Given the description of an element on the screen output the (x, y) to click on. 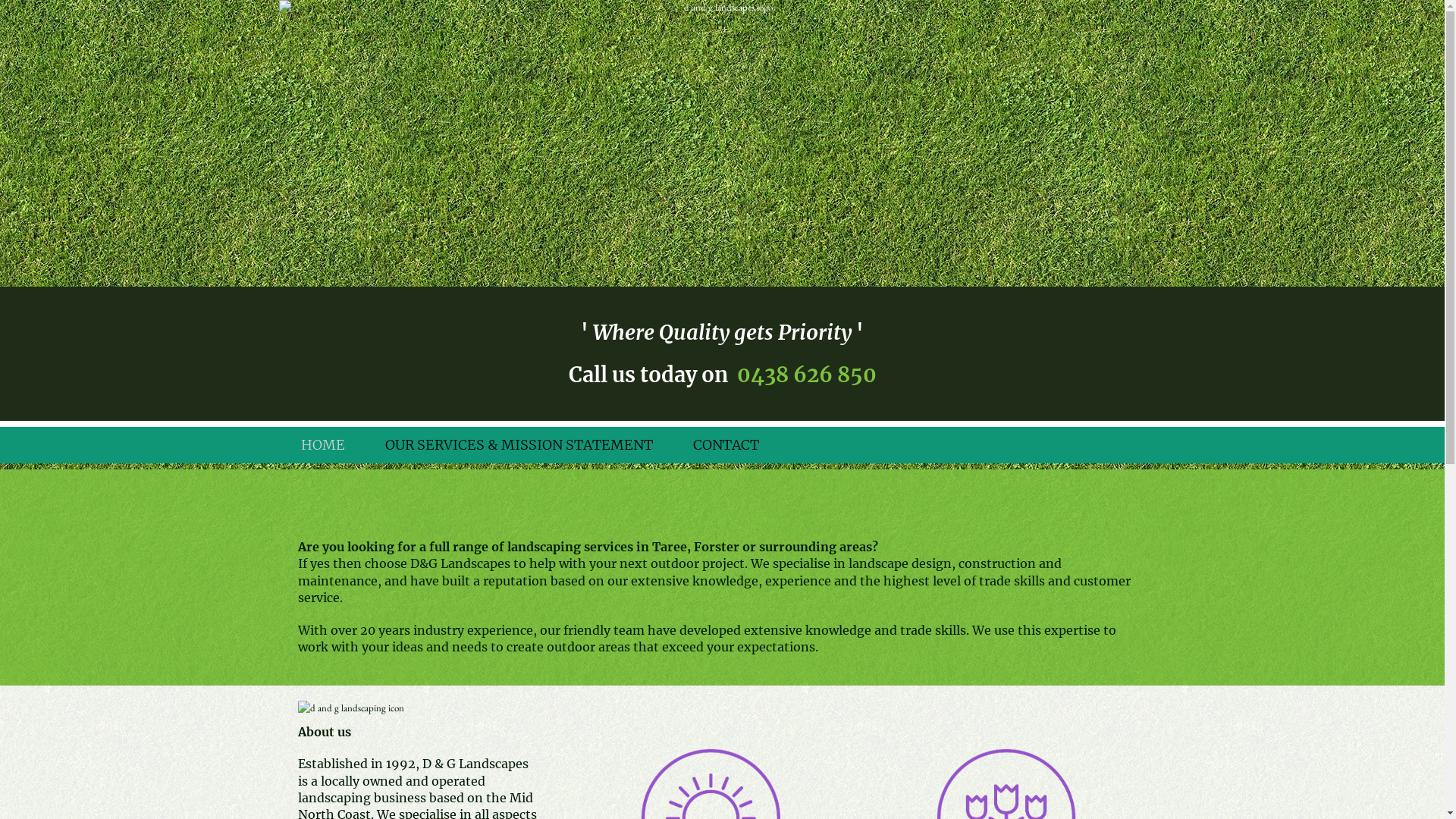
d and g landscapes logo Element type: hover (722, 143)
d and g landscaping icon Element type: hover (414, 707)
CONTACT Element type: text (726, 444)
OUR SERVICES & MISSION STATEMENT Element type: text (518, 444)
HOME Element type: text (322, 444)
0438 626 850 Element type: text (806, 374)
